Given the description of an element on the screen output the (x, y) to click on. 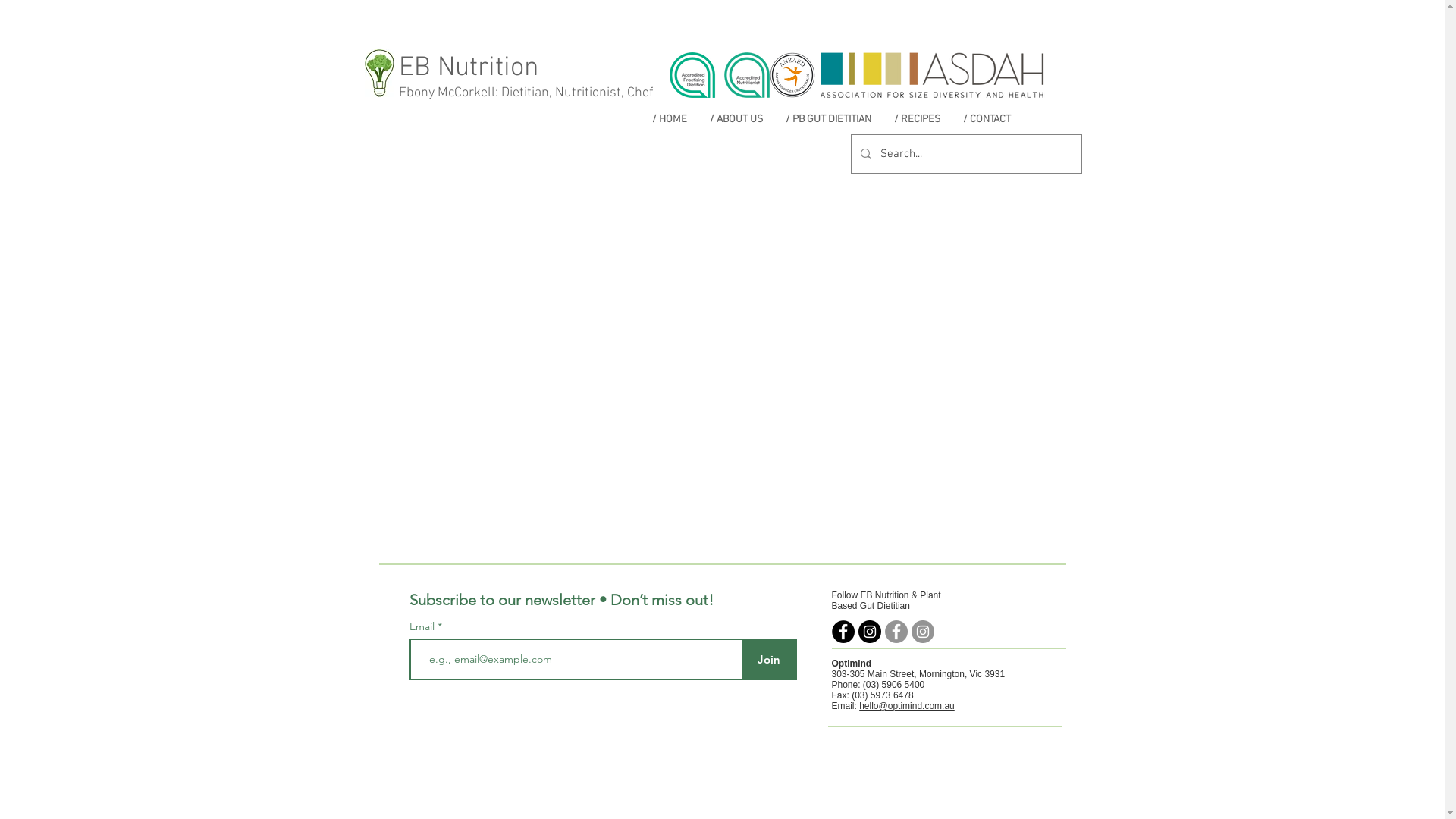
Join Element type: text (769, 659)
/ CONTACT Element type: text (985, 118)
/ RECIPES Element type: text (916, 118)
ANZAED Member Logo (Colour).png Element type: hover (791, 74)
/ HOME Element type: text (668, 118)
/ PB GUT DIETITIAN Element type: text (827, 118)
/ ABOUT US Element type: text (735, 118)
hello@optimind.com.au Element type: text (906, 705)
EB Nutrition Element type: text (468, 67)
